Given the description of an element on the screen output the (x, y) to click on. 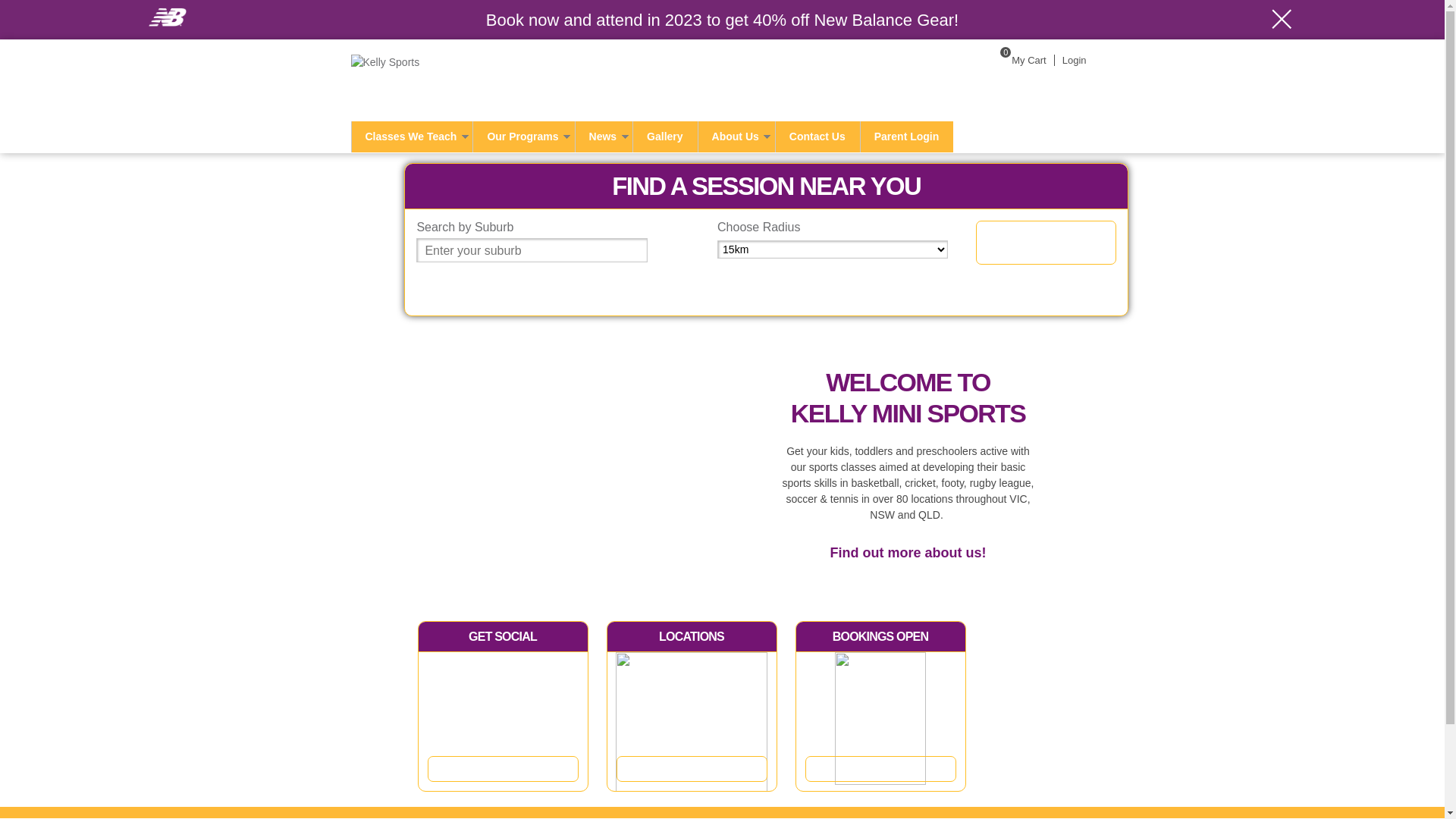
FULL LIST HERE Element type: text (691, 768)
Search! Element type: text (1045, 242)
Login Element type: text (1074, 59)
MORE INFO Element type: text (880, 768)
BOOKINGS OPEN Element type: text (880, 636)
LOCATIONS Element type: text (691, 636)
0
My Cart Element type: text (1018, 59)
Parent Login Element type: text (906, 136)
Find out more about us! Element type: text (907, 552)
Contact Us Element type: text (817, 136)
Gallery Element type: text (664, 136)
LIKE US NOW Element type: text (502, 768)
GET SOCIAL Element type: text (502, 636)
